Given the description of an element on the screen output the (x, y) to click on. 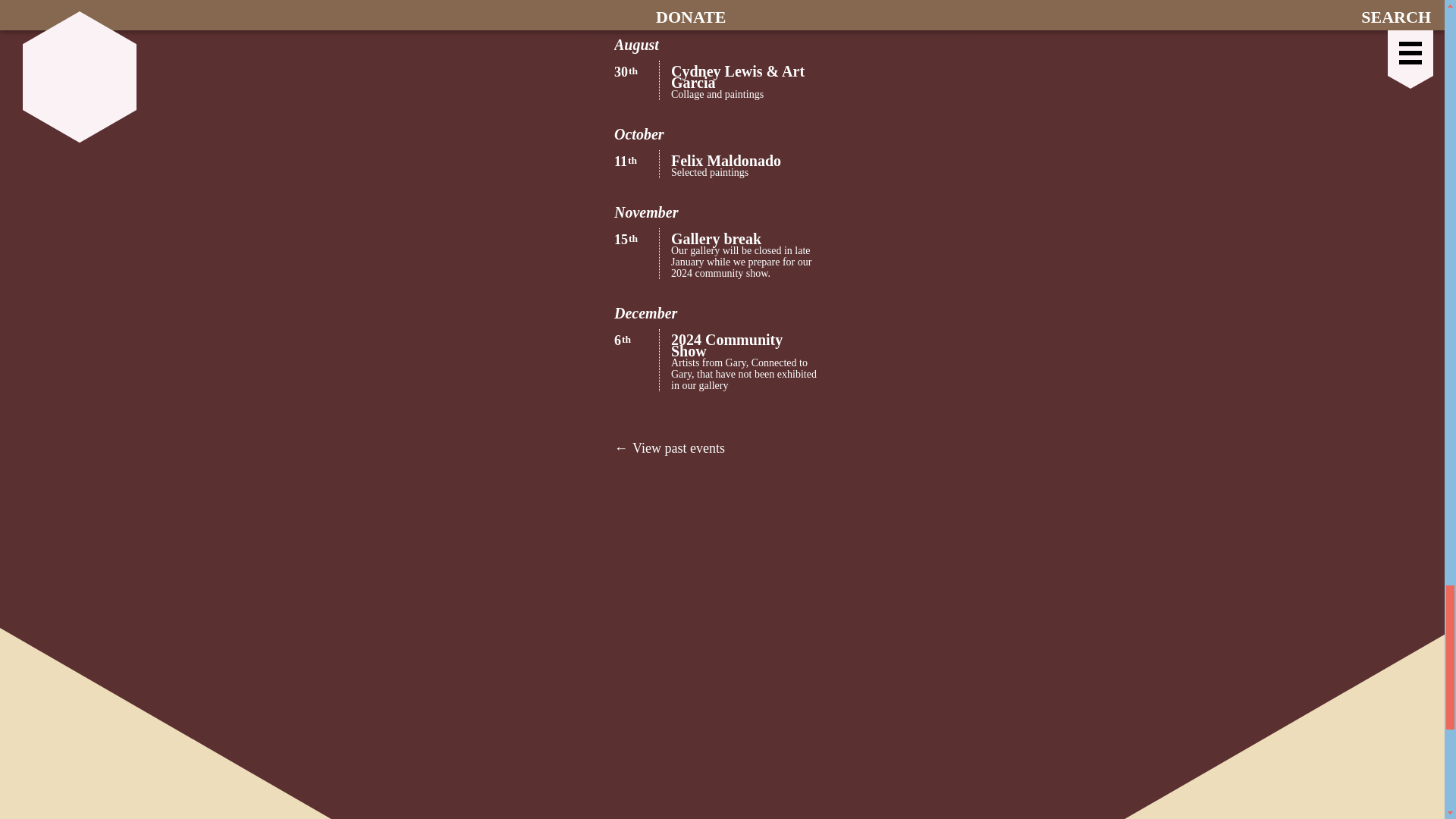
View past events (727, 447)
